Given the description of an element on the screen output the (x, y) to click on. 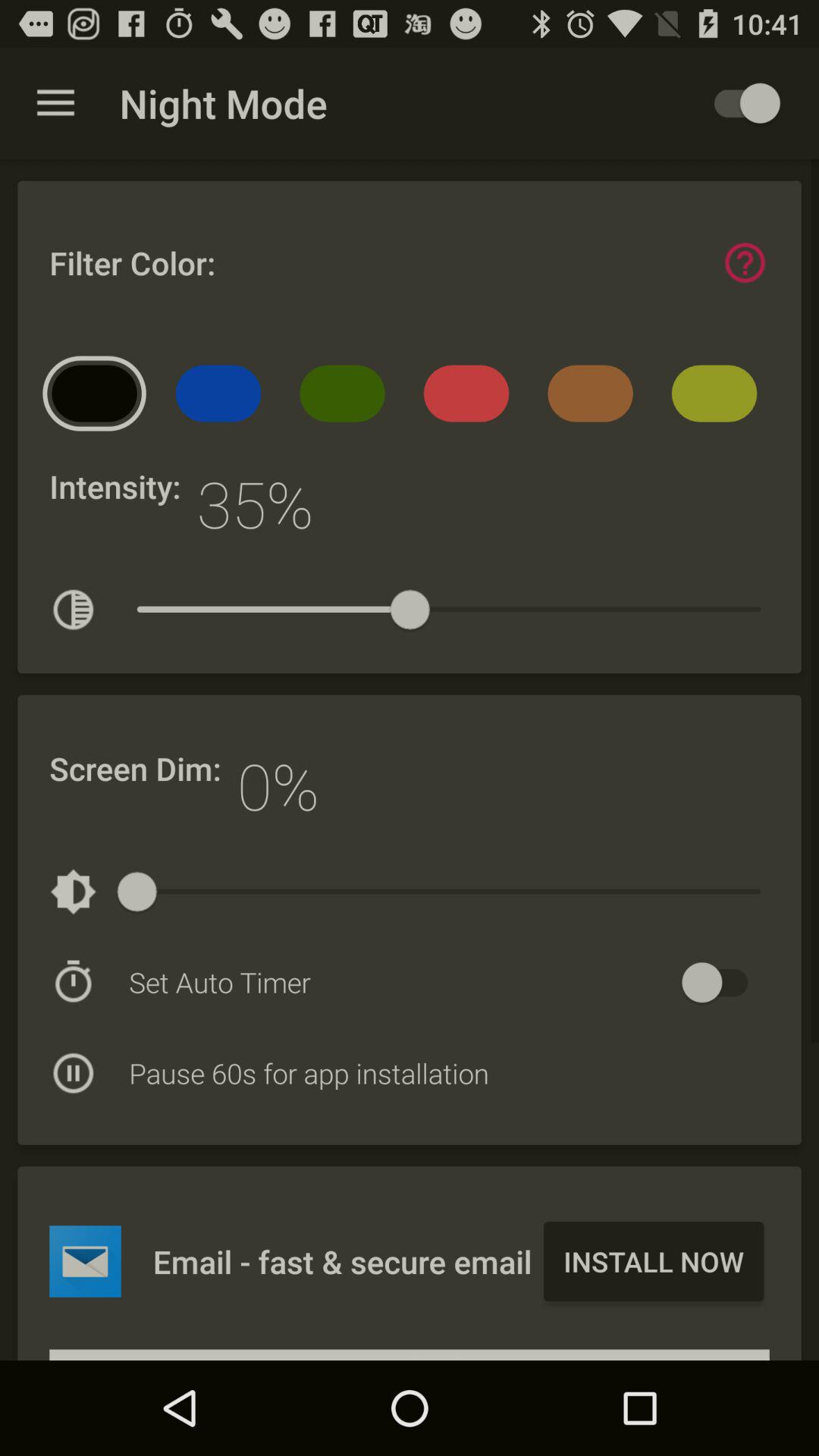
turn on set auto timer (722, 982)
